Given the description of an element on the screen output the (x, y) to click on. 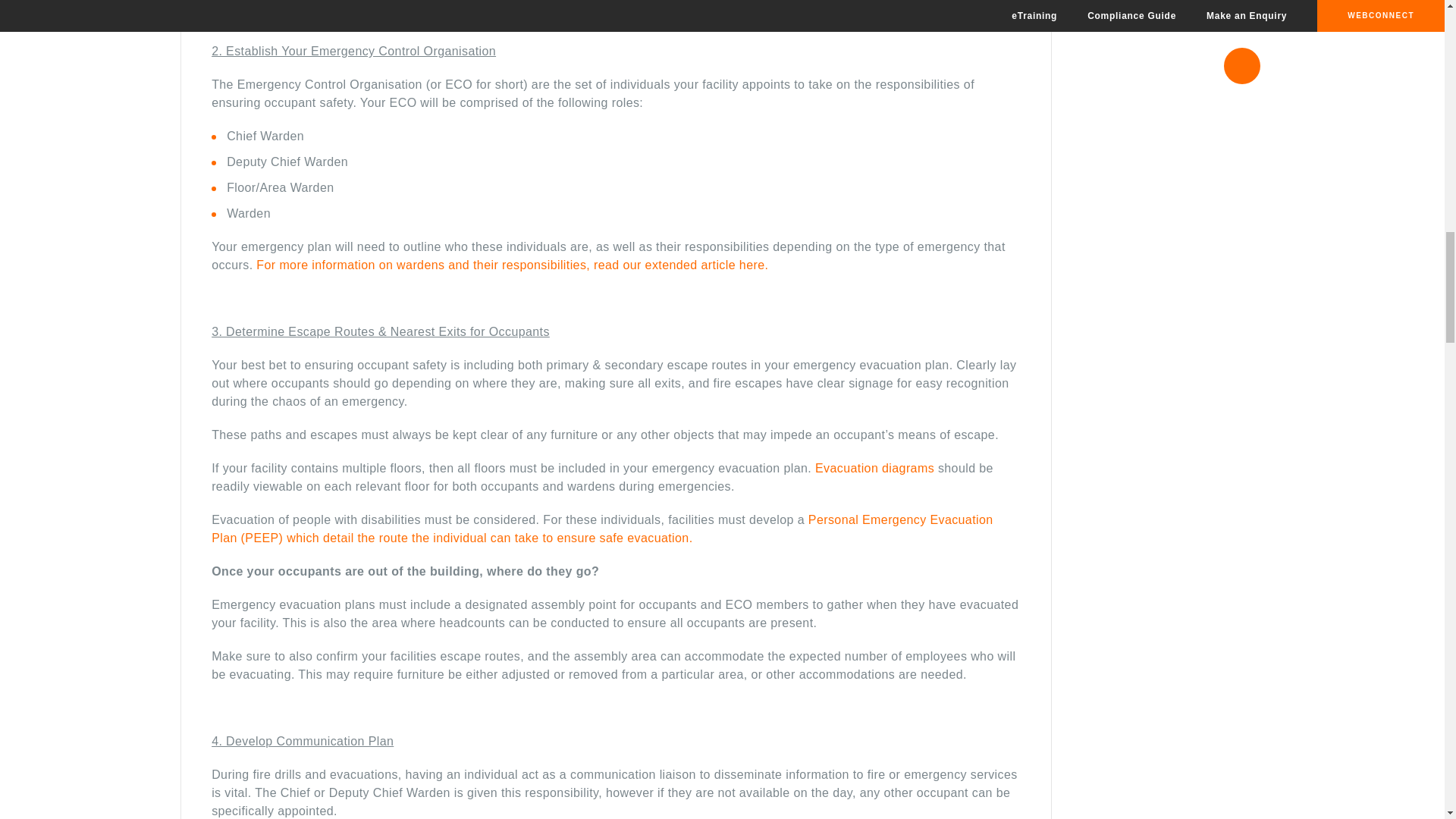
Evacuation diagrams (874, 468)
